Given the description of an element on the screen output the (x, y) to click on. 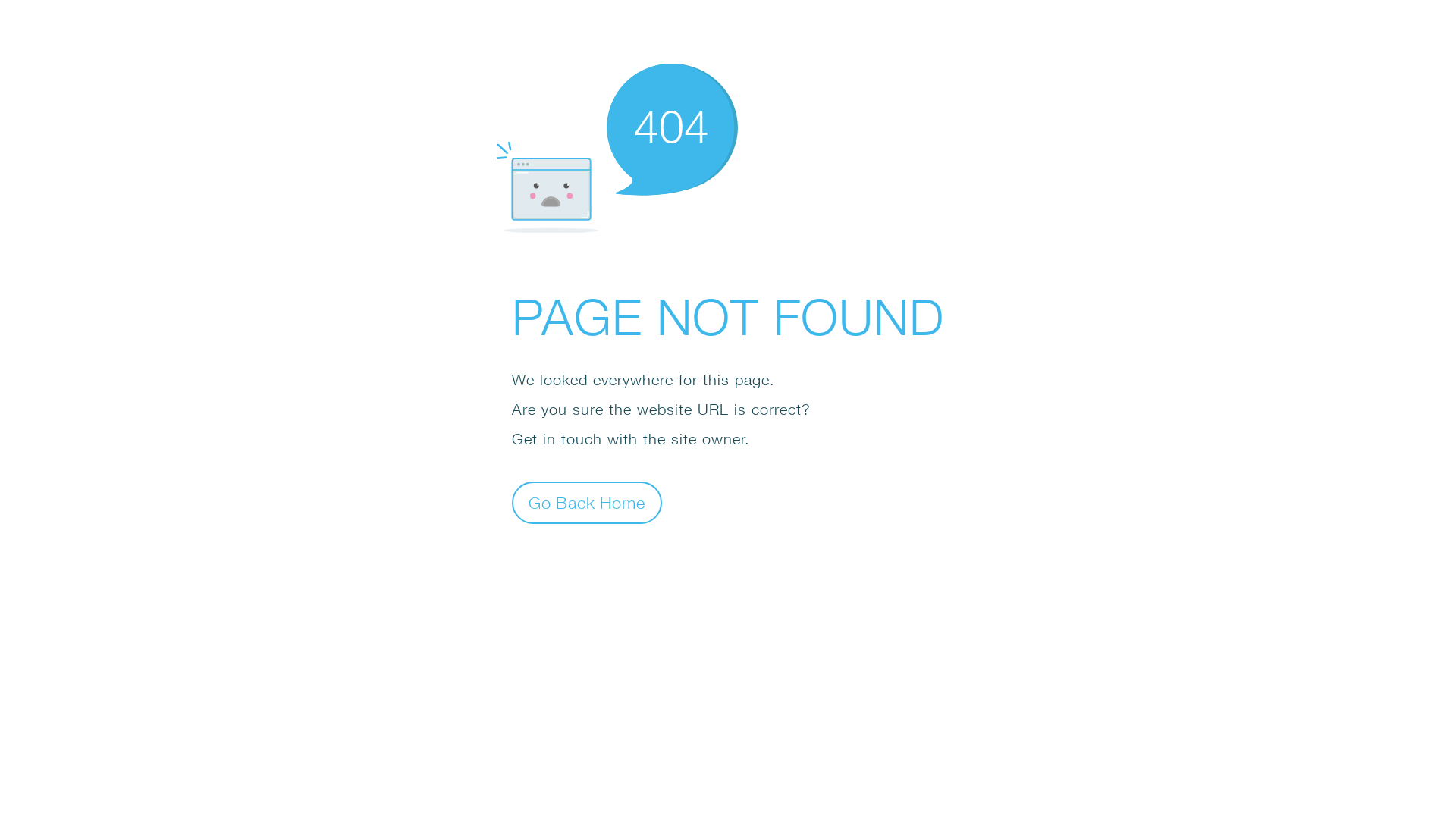
Go Back Home Element type: text (586, 502)
